Given the description of an element on the screen output the (x, y) to click on. 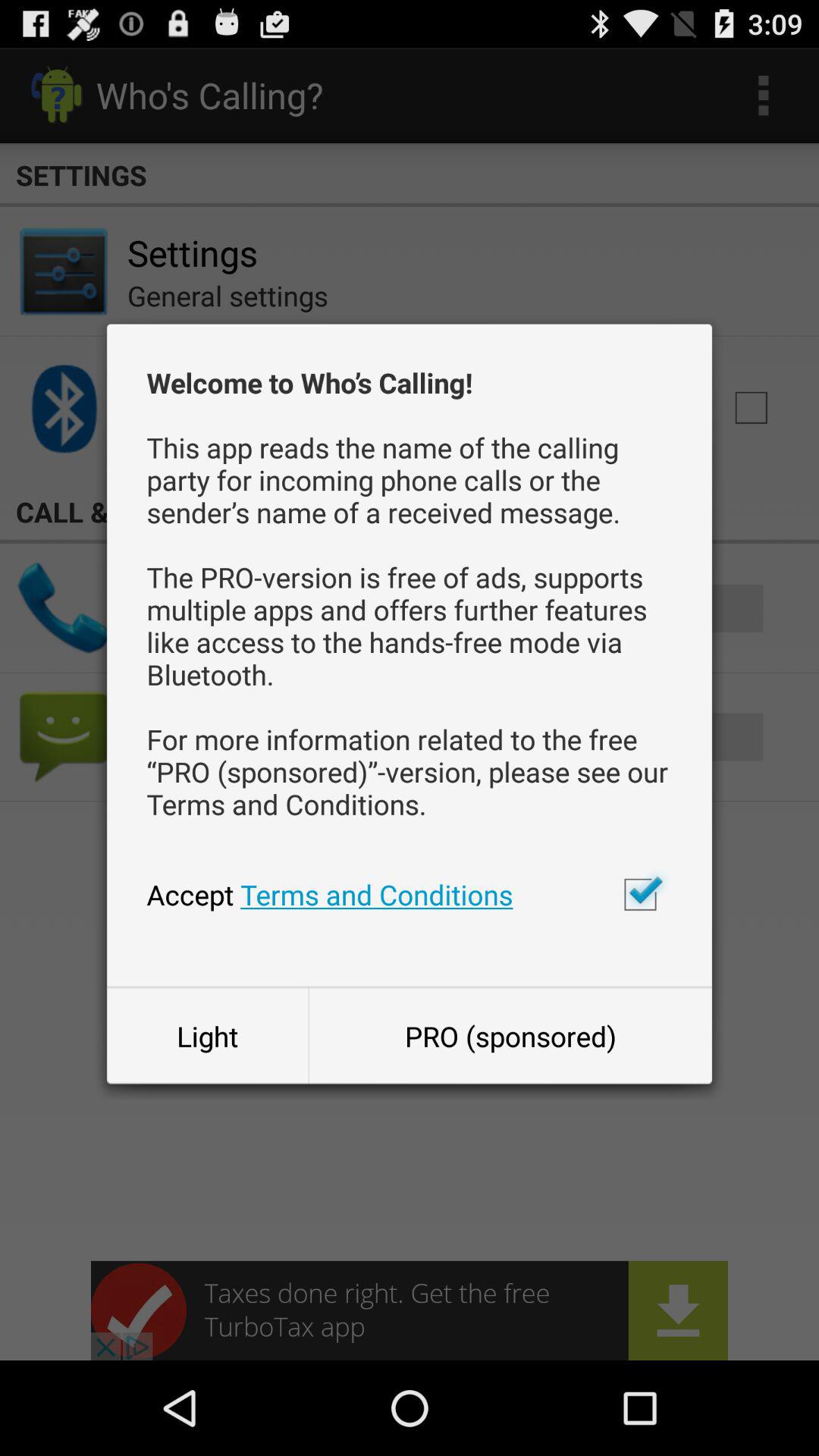
tap the icon at the bottom left corner (207, 1036)
